Given the description of an element on the screen output the (x, y) to click on. 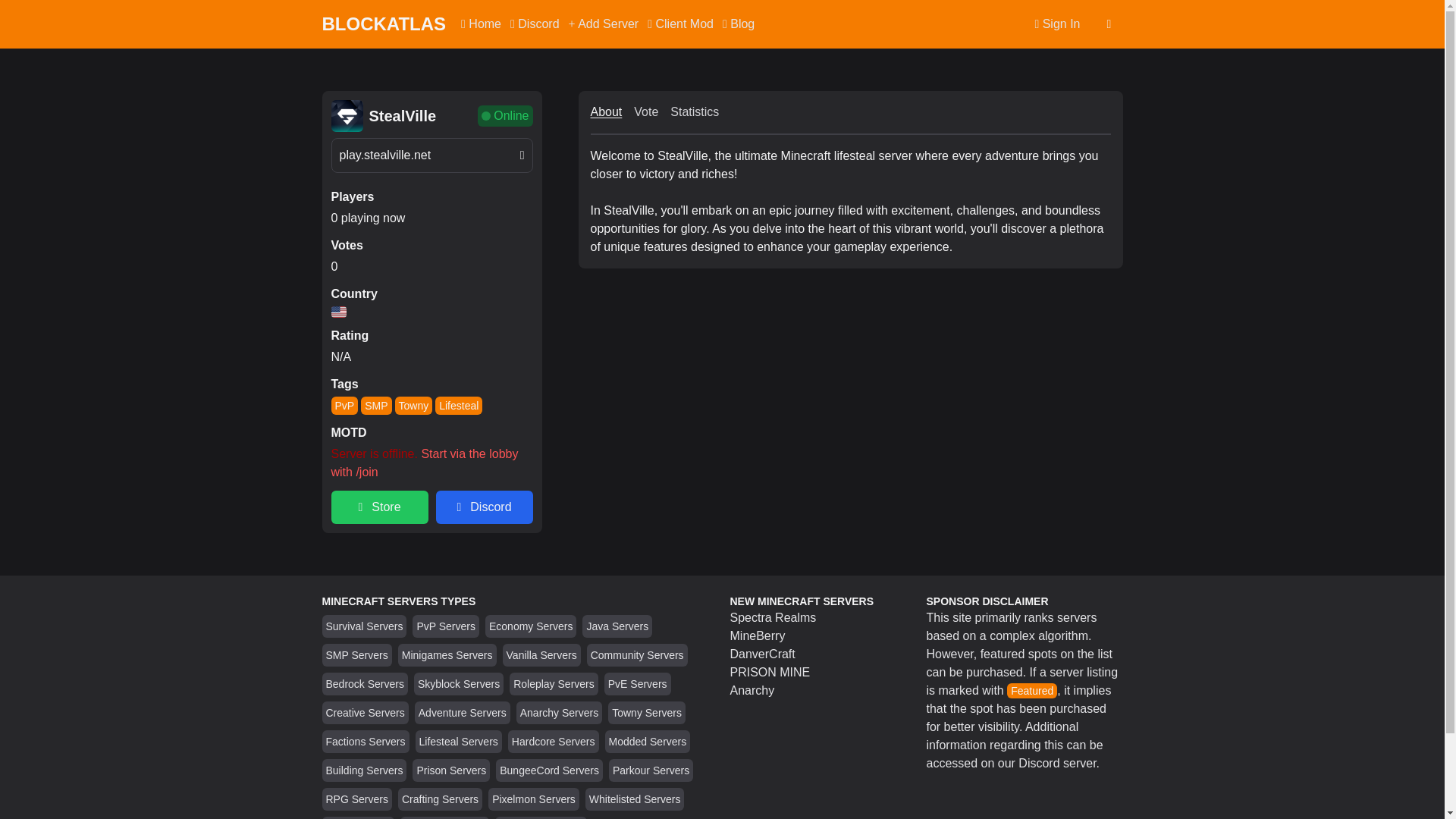
About (605, 112)
Survival Servers (364, 625)
SMP (376, 405)
PvP Servers (446, 625)
StealVille (401, 115)
Anarchy Servers (558, 712)
Home (480, 23)
Creative Servers (365, 712)
SMP Servers (357, 654)
Community Servers (637, 654)
